Given the description of an element on the screen output the (x, y) to click on. 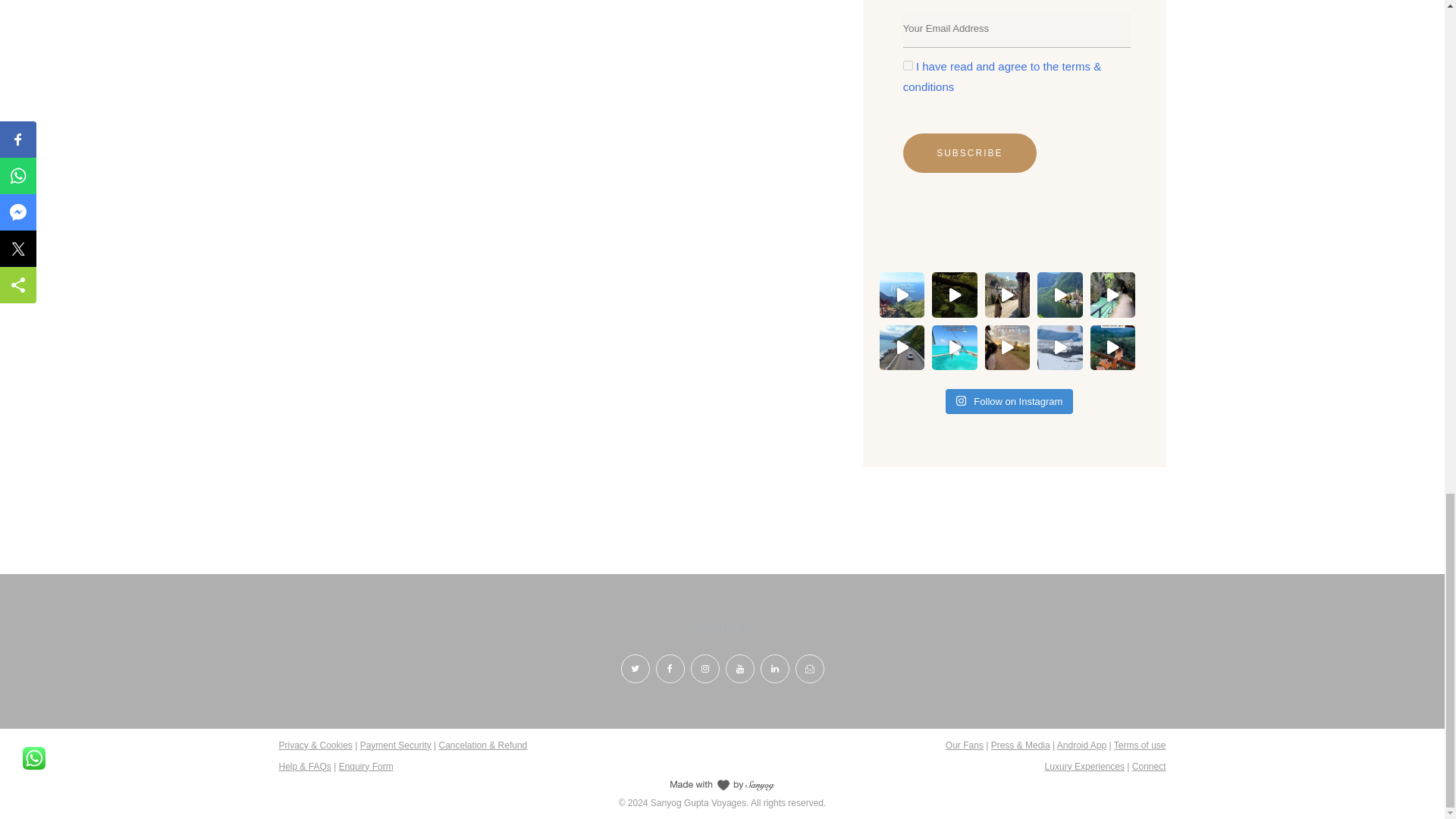
1 (907, 65)
Subscribe (969, 152)
